Given the description of an element on the screen output the (x, y) to click on. 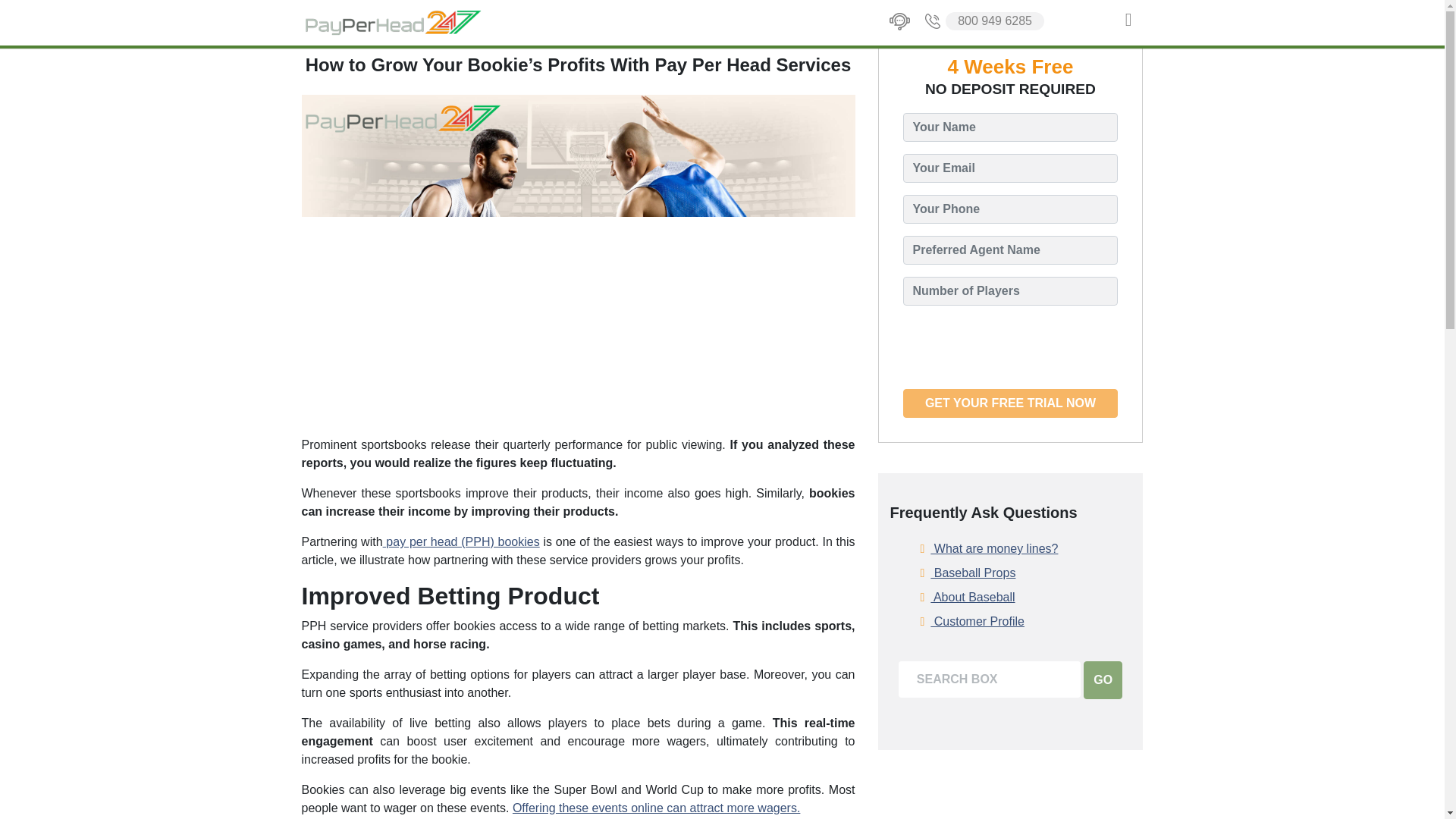
800 949 6285 (983, 20)
Go (1102, 679)
Go (1102, 679)
Offering these events online can attract more wagers. (655, 807)
GET YOUR FREE TRIAL NOW (1010, 403)
Customer Profile (972, 621)
What are money lines? (989, 548)
About Baseball (967, 597)
Baseball Props (968, 573)
